Given the description of an element on the screen output the (x, y) to click on. 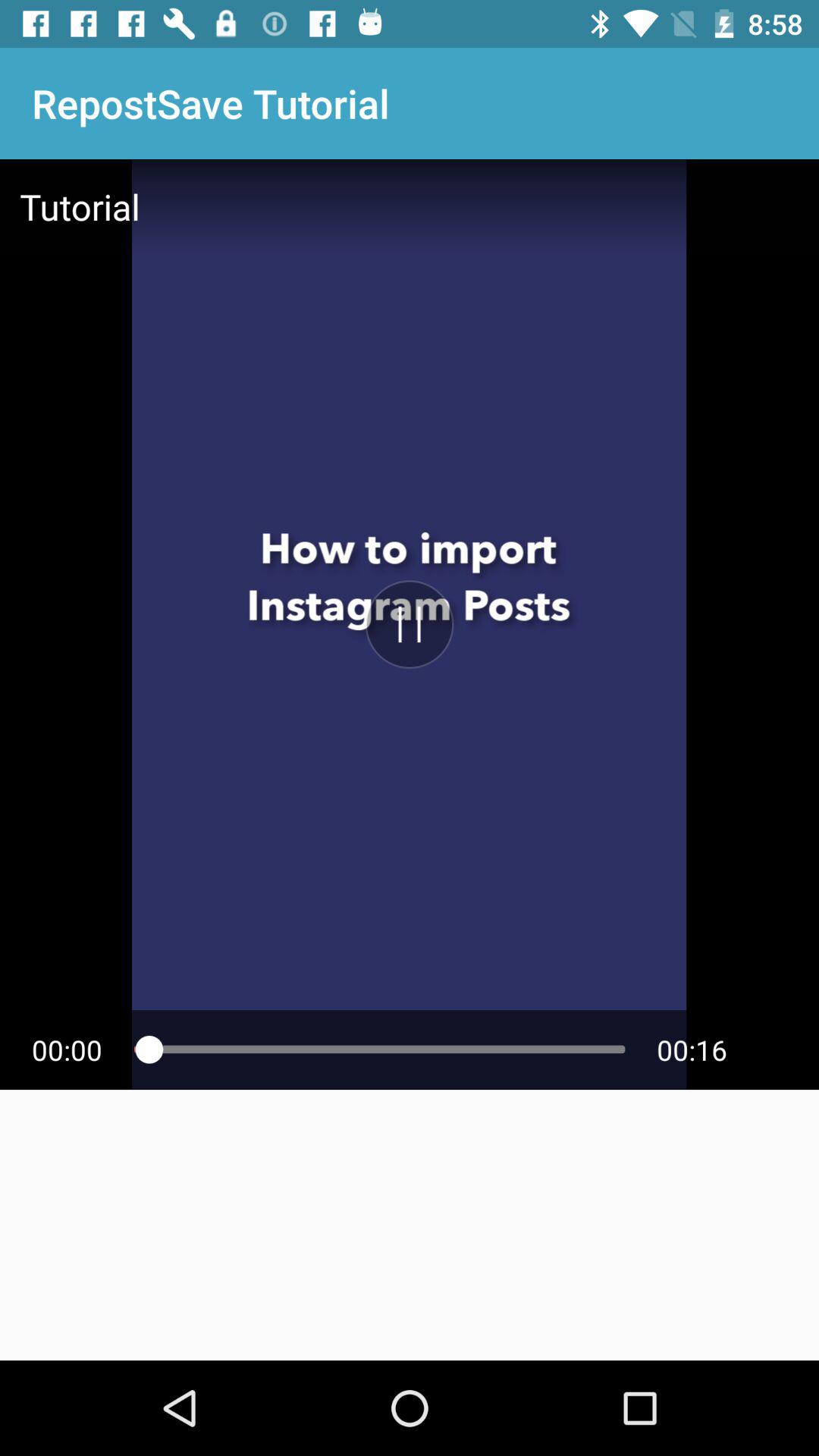
play (409, 624)
